Given the description of an element on the screen output the (x, y) to click on. 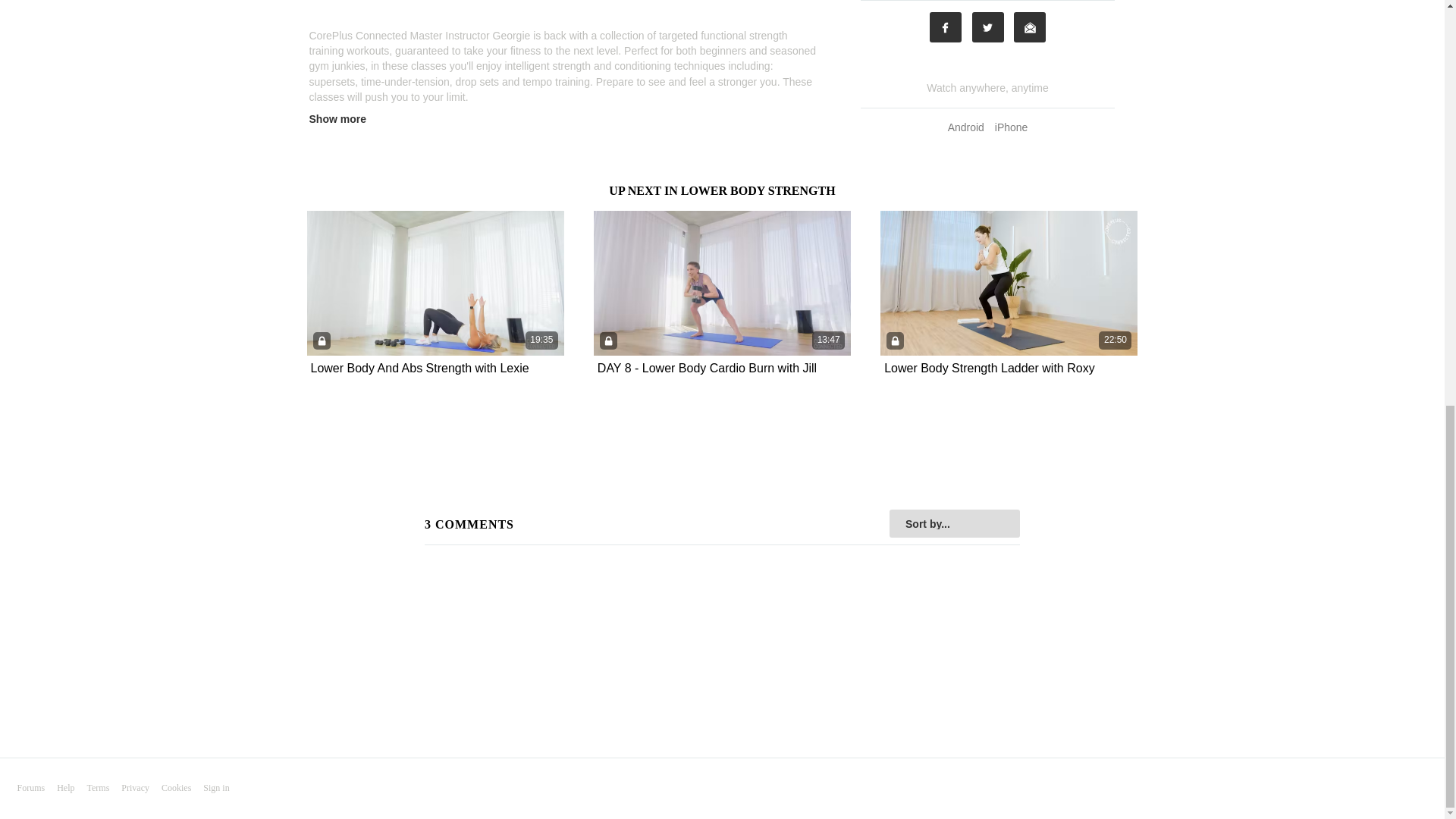
DAY 8 - Lower Body Cardio Burn with Jill (706, 368)
Forums (30, 788)
Android (965, 127)
Help (65, 788)
Email (1029, 27)
Lower Body Strength Ladder with Roxy (988, 368)
13:47 (722, 282)
LOWER BODY STRENGTH (758, 190)
Twitter (988, 27)
19:35 (434, 282)
Cookies (175, 788)
Lower Body And Abs Strength with Lexie (420, 368)
Terms (98, 788)
22:50 (1008, 282)
Lower Body Strength Ladder with Roxy (988, 367)
